Given the description of an element on the screen output the (x, y) to click on. 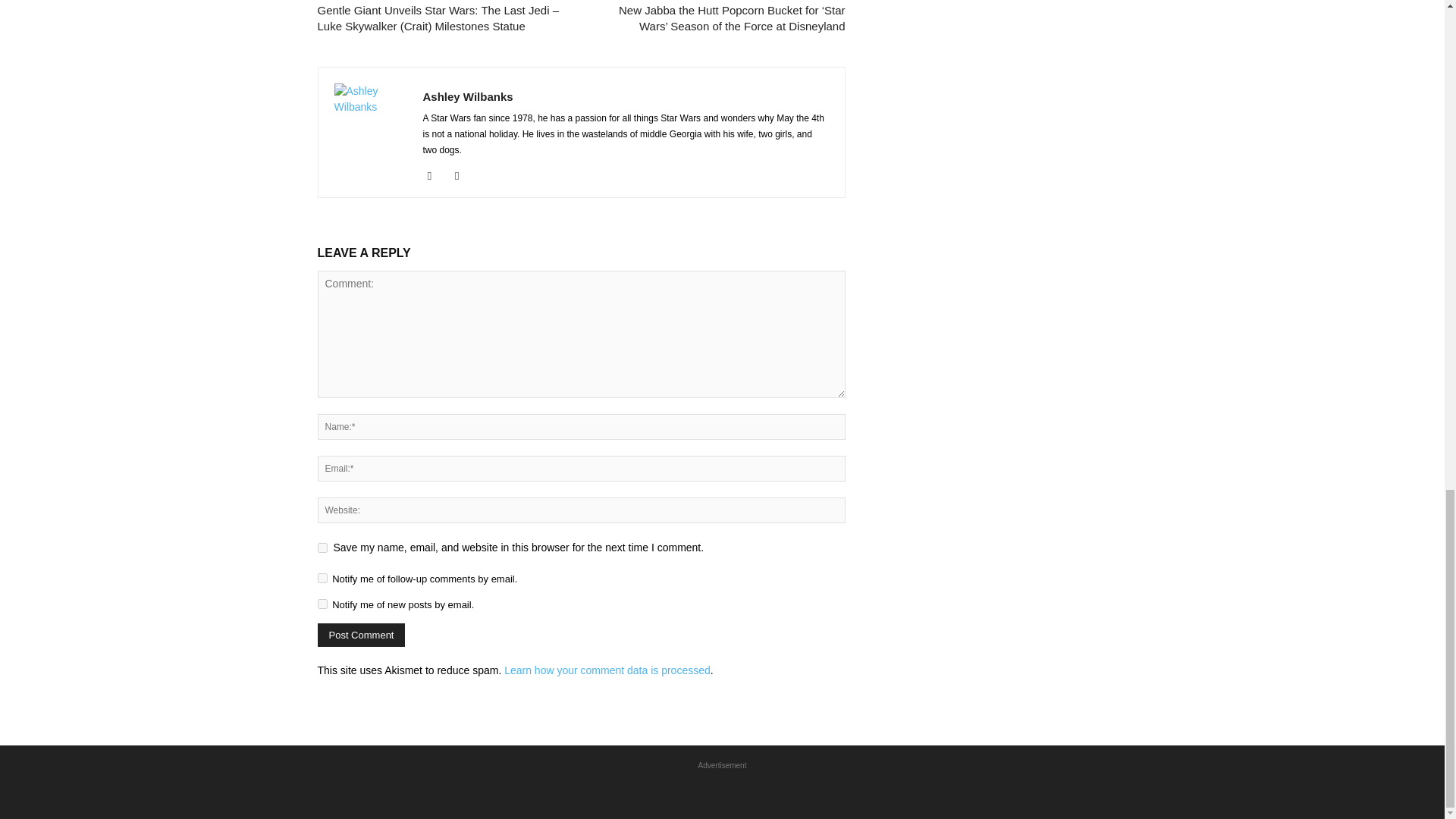
subscribe (321, 578)
yes (321, 547)
subscribe (321, 603)
Post Comment (360, 635)
